Given the description of an element on the screen output the (x, y) to click on. 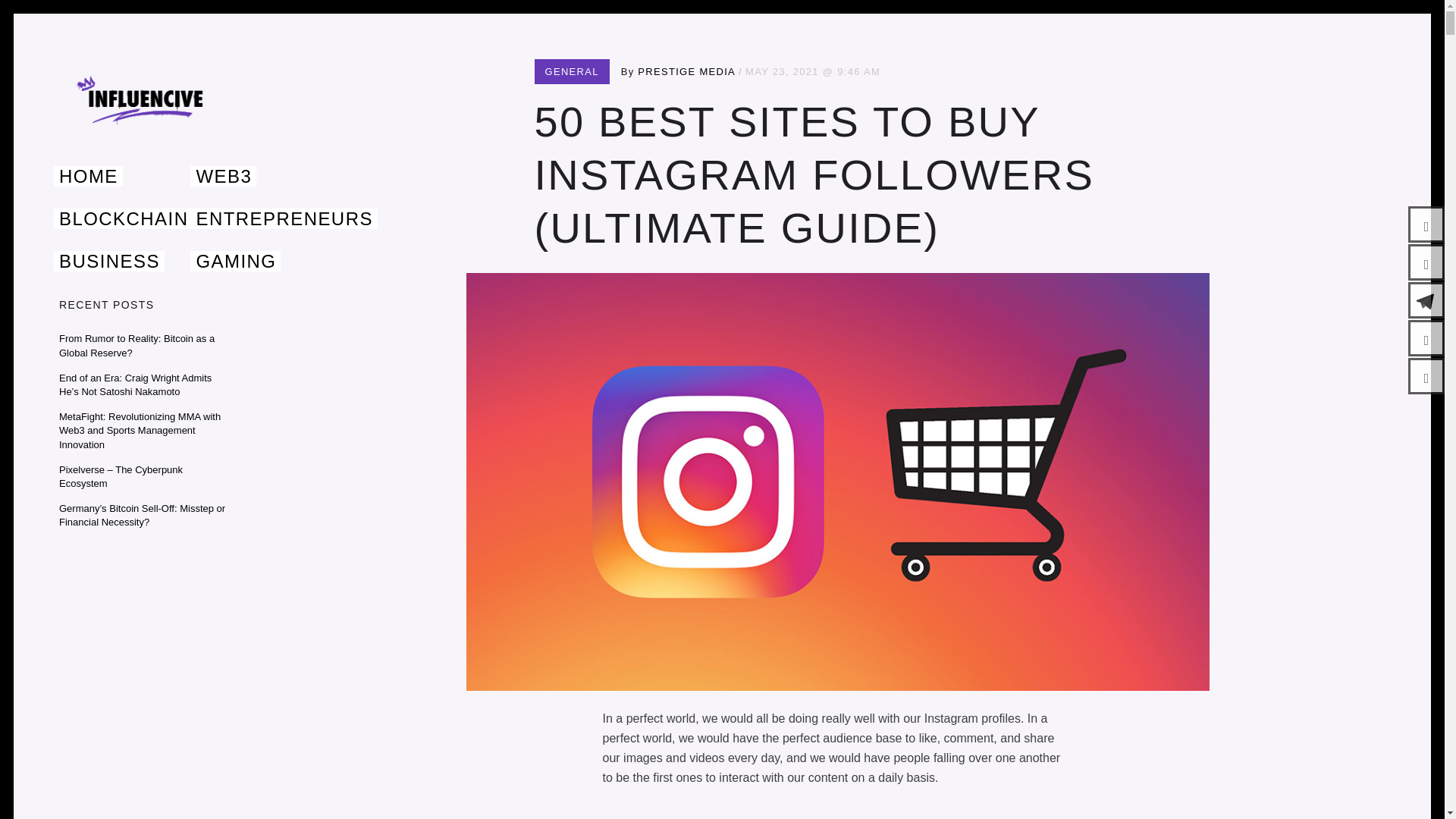
MAY 23, 20219:46 AM (812, 71)
INFLUENCIVE (155, 161)
PRESTIGE MEDIA (686, 71)
HOME (87, 176)
GAMING (235, 260)
BUSINESS (108, 260)
BLOCKCHAIN (122, 218)
ENTREPRENEURS (283, 218)
WEB3 (223, 176)
GENERAL (571, 71)
